Given the description of an element on the screen output the (x, y) to click on. 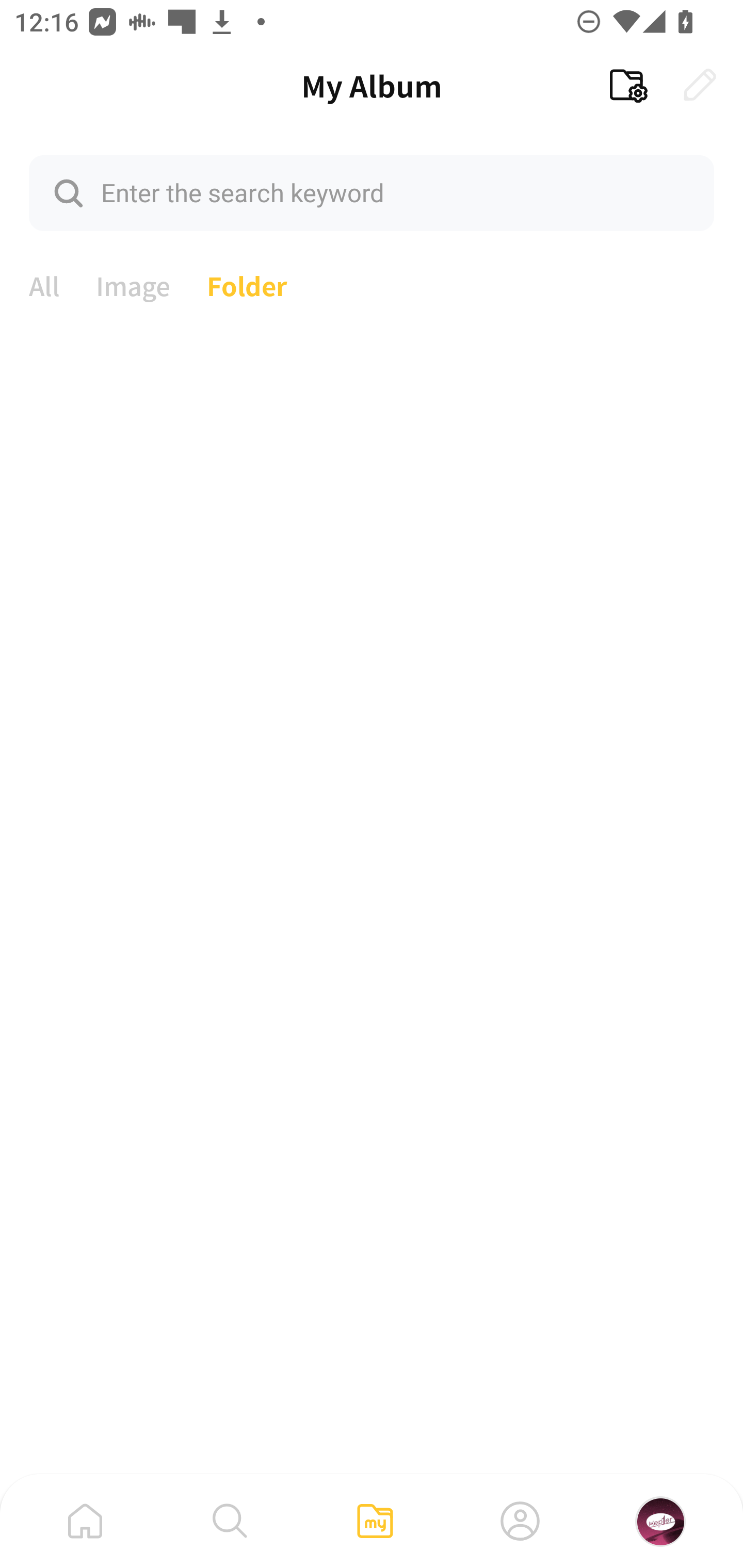
Enter the search keyword (371, 192)
All (44, 284)
Image (132, 284)
Folder (246, 284)
